Given the description of an element on the screen output the (x, y) to click on. 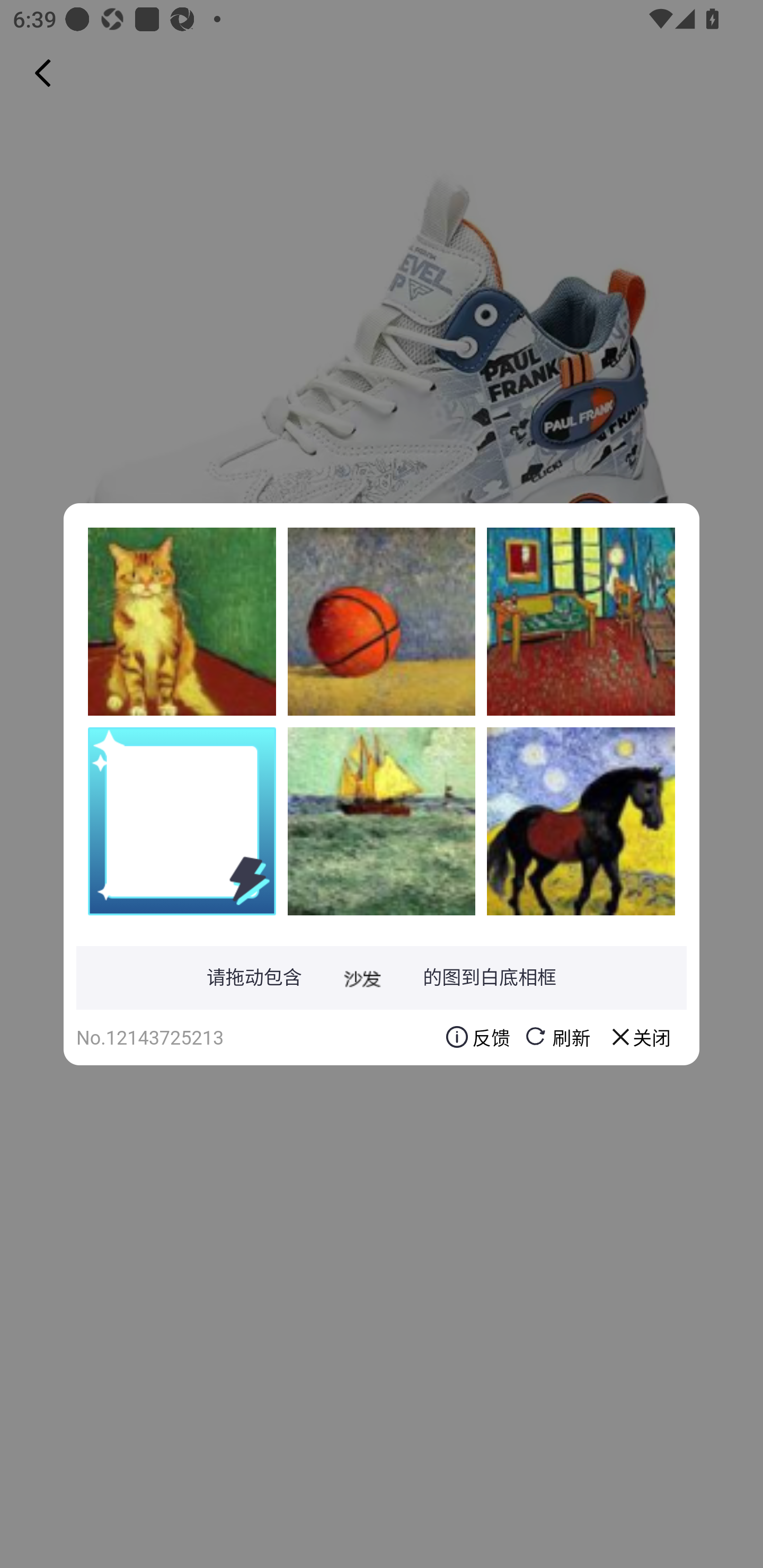
ciIc3y (181, 621)
